Given the description of an element on the screen output the (x, y) to click on. 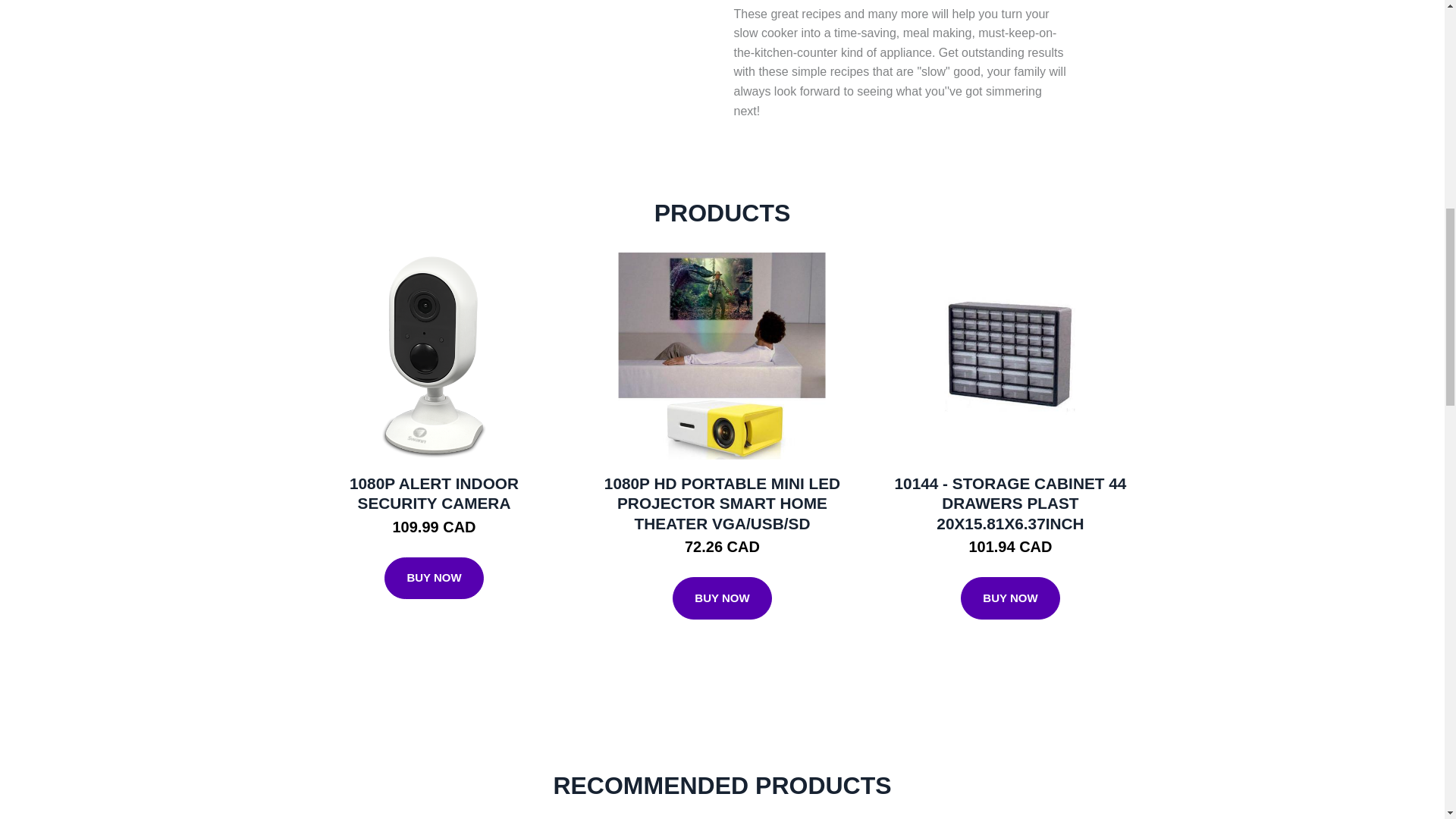
1080P ALERT INDOOR SECURITY CAMERA (433, 493)
BUY NOW (1009, 598)
10144 - STORAGE CABINET 44 DRAWERS PLAST 20X15.81X6.37INCH (1010, 503)
BUY NOW (433, 578)
BUY NOW (721, 598)
